Given the description of an element on the screen output the (x, y) to click on. 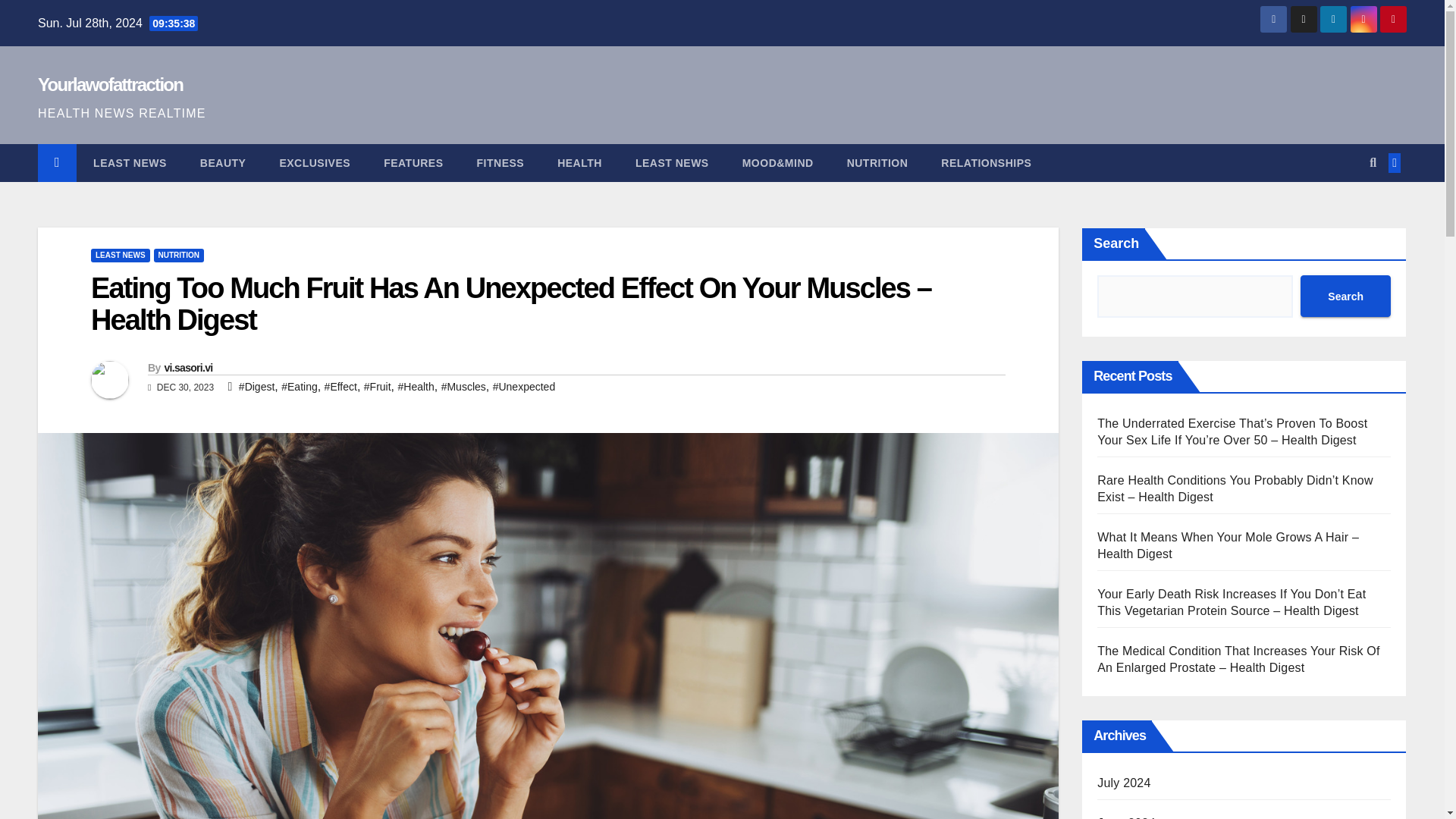
Fitness (500, 162)
Health (579, 162)
Features (413, 162)
Exclusives (314, 162)
FEATURES (413, 162)
LEAST NEWS (671, 162)
HEALTH (579, 162)
Yourlawofattraction (110, 84)
vi.sasori.vi (187, 367)
LEAST NEWS (119, 255)
Search (1345, 295)
Nutrition (876, 162)
Least News (671, 162)
Beauty (223, 162)
Relationships (986, 162)
